Given the description of an element on the screen output the (x, y) to click on. 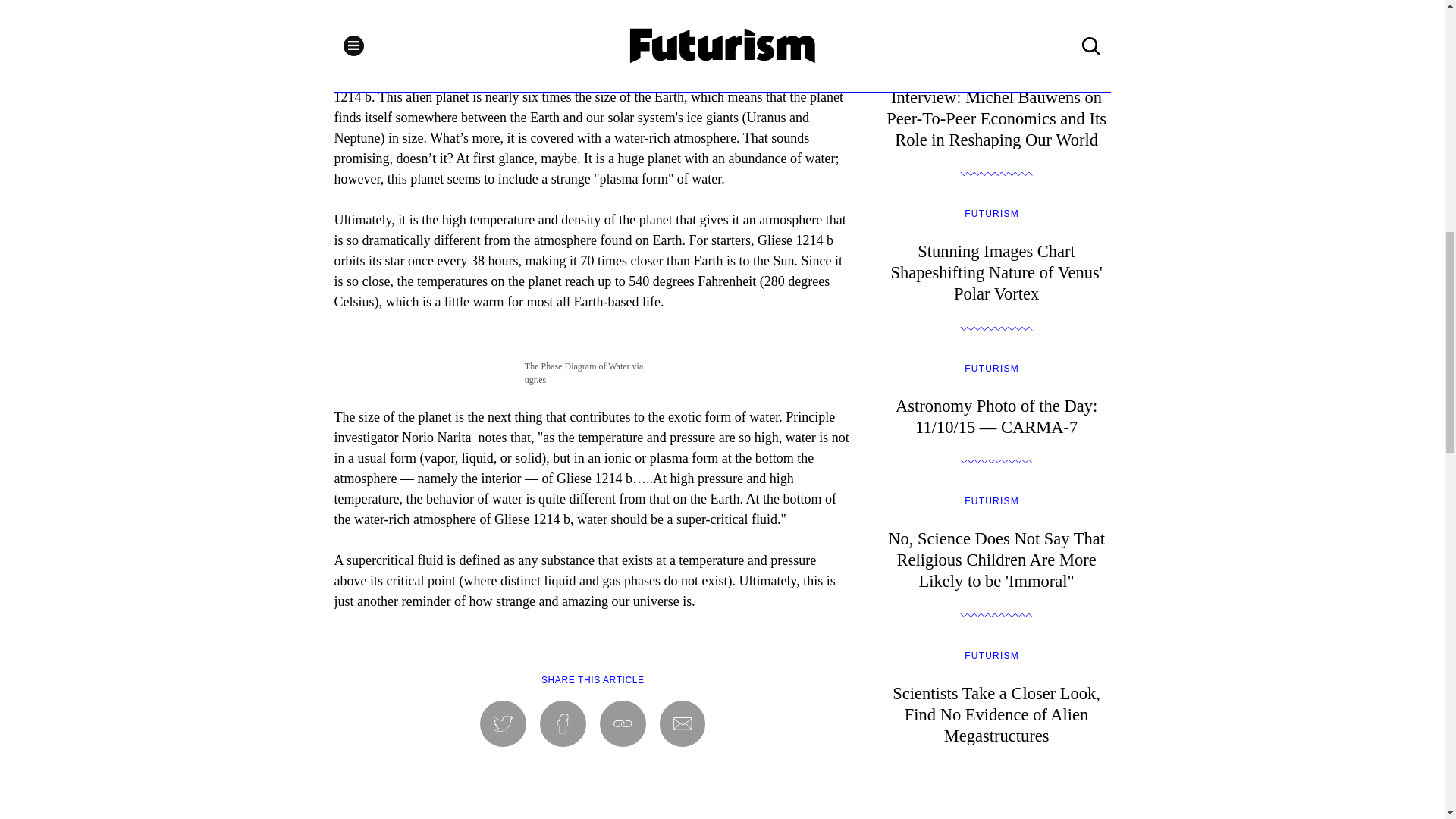
Share to Facebook (563, 723)
space.com (566, 2)
Copy Link (622, 723)
ugr.es (535, 379)
